Given the description of an element on the screen output the (x, y) to click on. 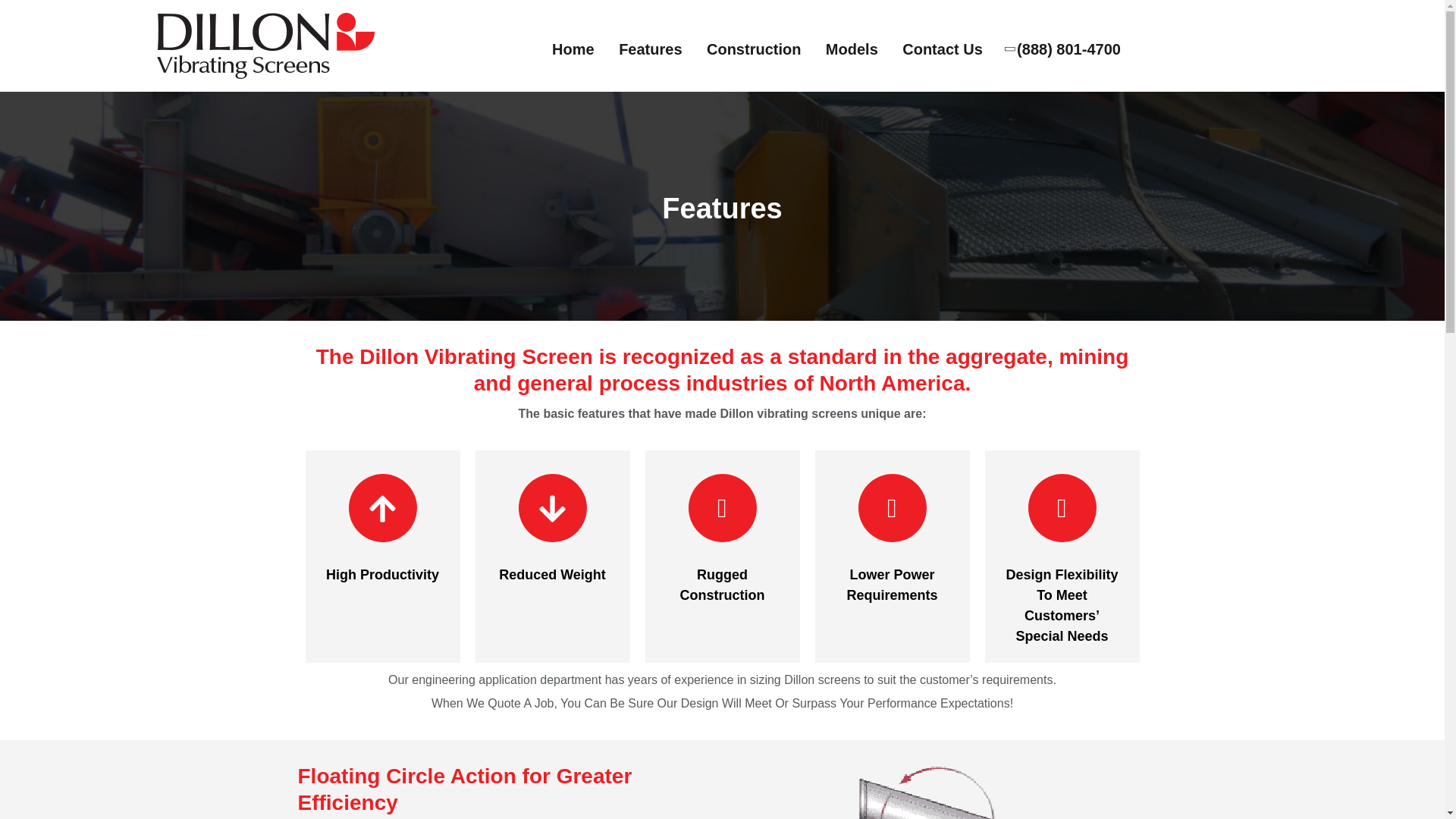
Models (851, 49)
Home (572, 49)
Construction (753, 49)
Contact Us (942, 49)
Features (649, 49)
